Given the description of an element on the screen output the (x, y) to click on. 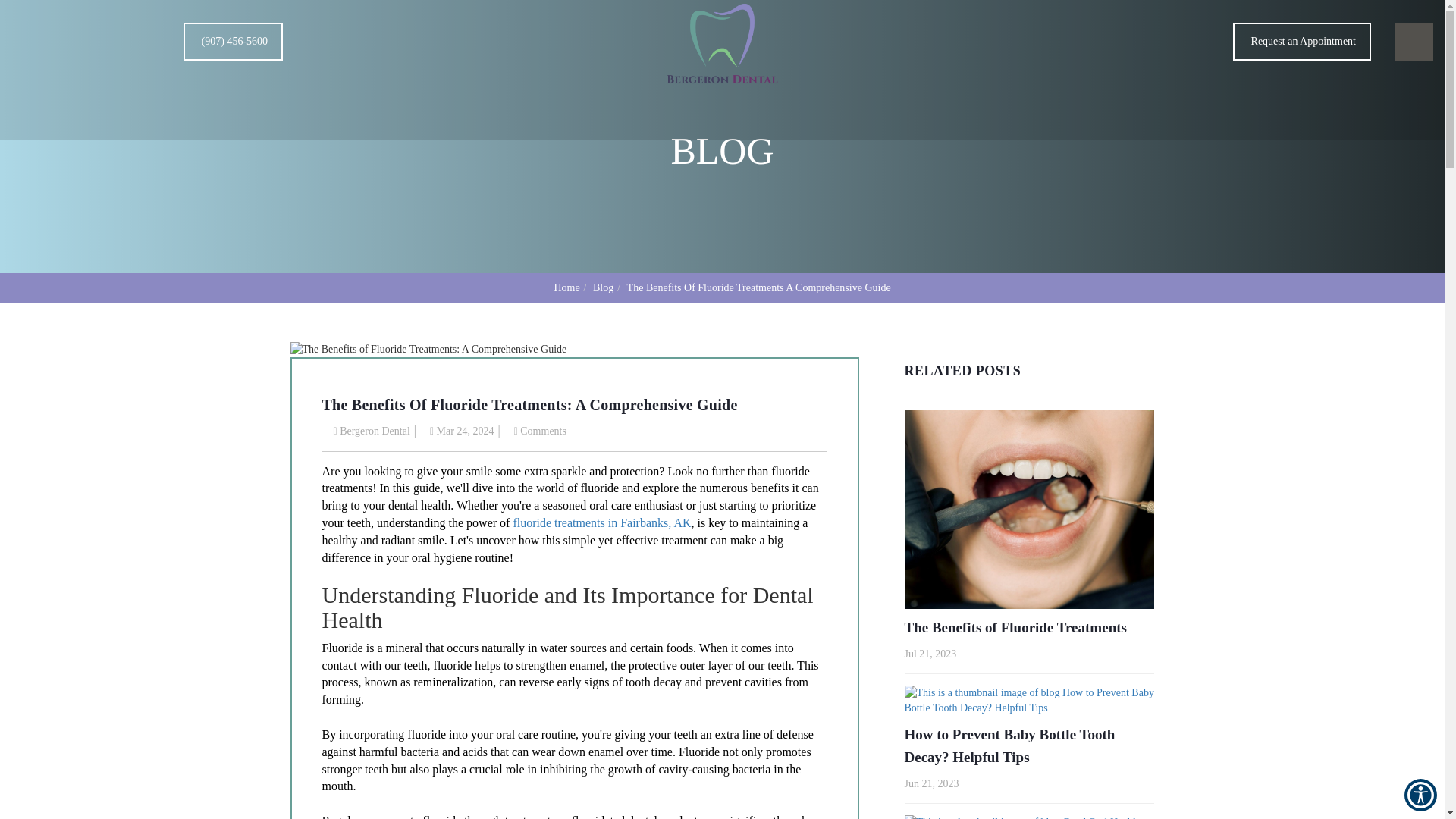
Brand Logo (721, 45)
User way accessibility widget icon (1420, 795)
Request an Appointment (1303, 14)
The Benefits of Fluoride Treatments: A Comprehensive Guide (427, 349)
